Given the description of an element on the screen output the (x, y) to click on. 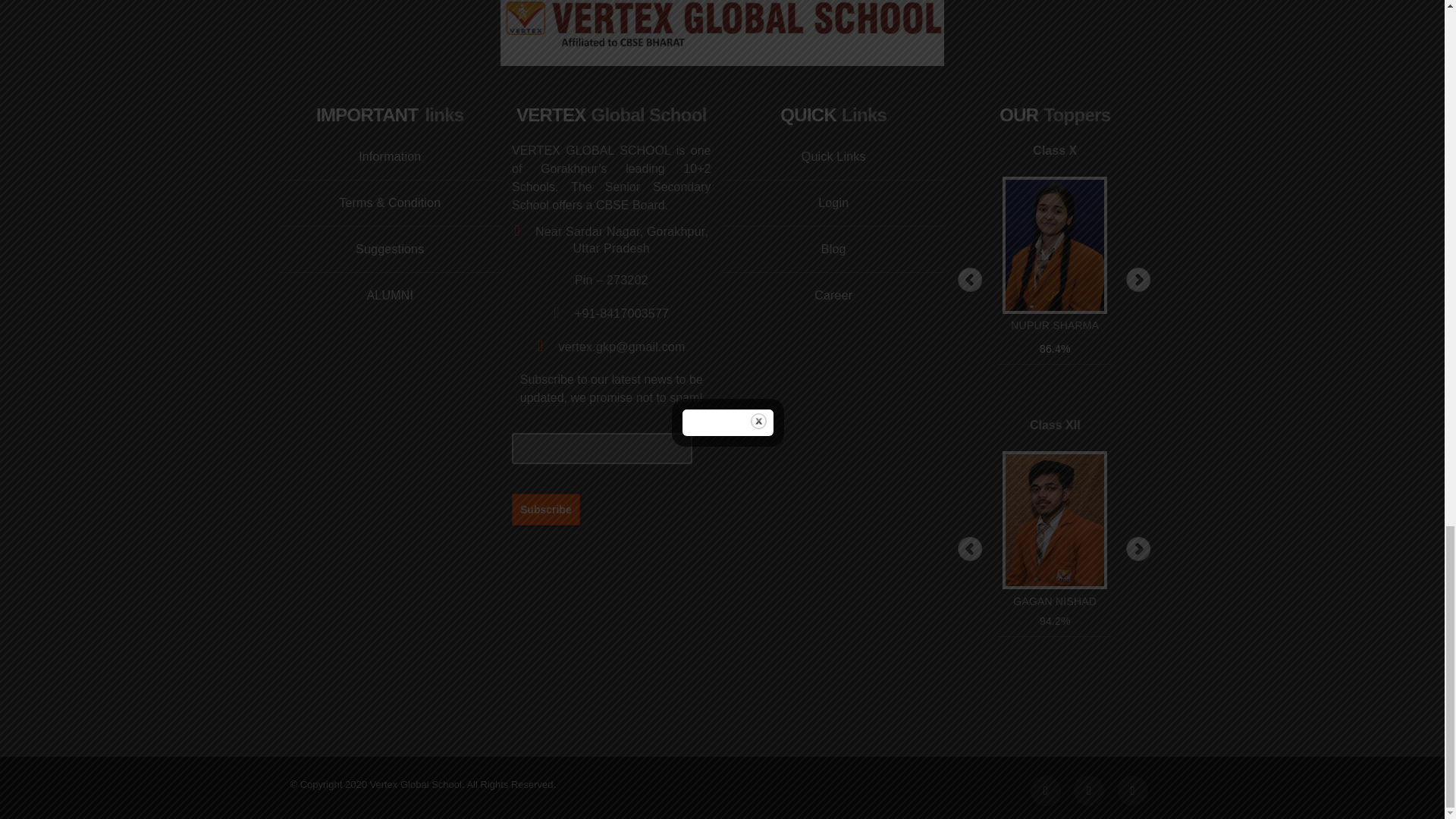
Subscribe (545, 508)
